Given the description of an element on the screen output the (x, y) to click on. 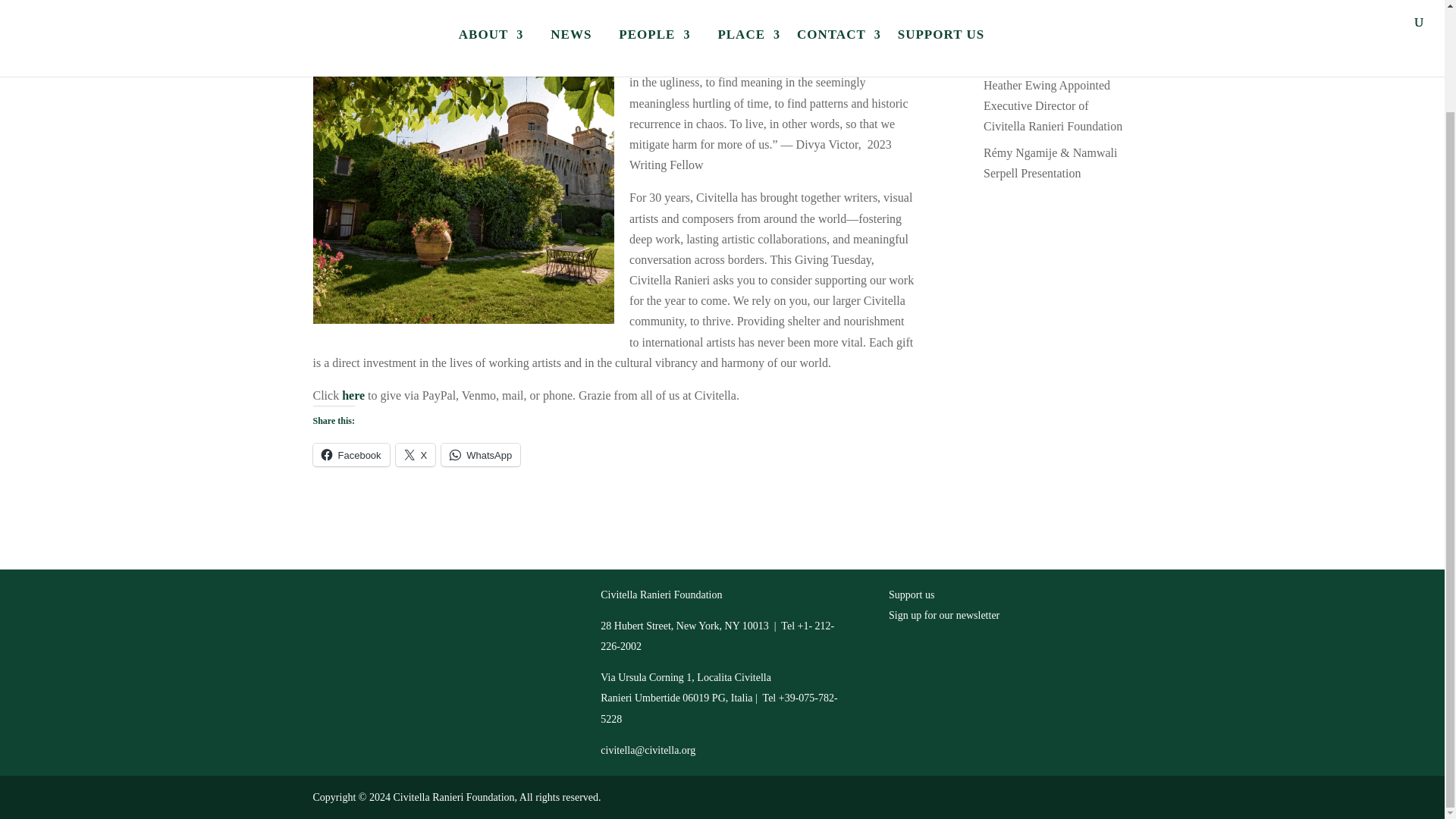
Facebook (331, 616)
Support us (911, 594)
here (353, 395)
YouTube (395, 616)
Click to share on Facebook (350, 454)
X (457, 616)
X (415, 454)
WhatsApp (480, 454)
Spotify (426, 616)
Click to share on X (415, 454)
Click to share on WhatsApp (480, 454)
Facebook (350, 454)
Instagram (363, 616)
Sign up for our newsletter (943, 614)
